Given the description of an element on the screen output the (x, y) to click on. 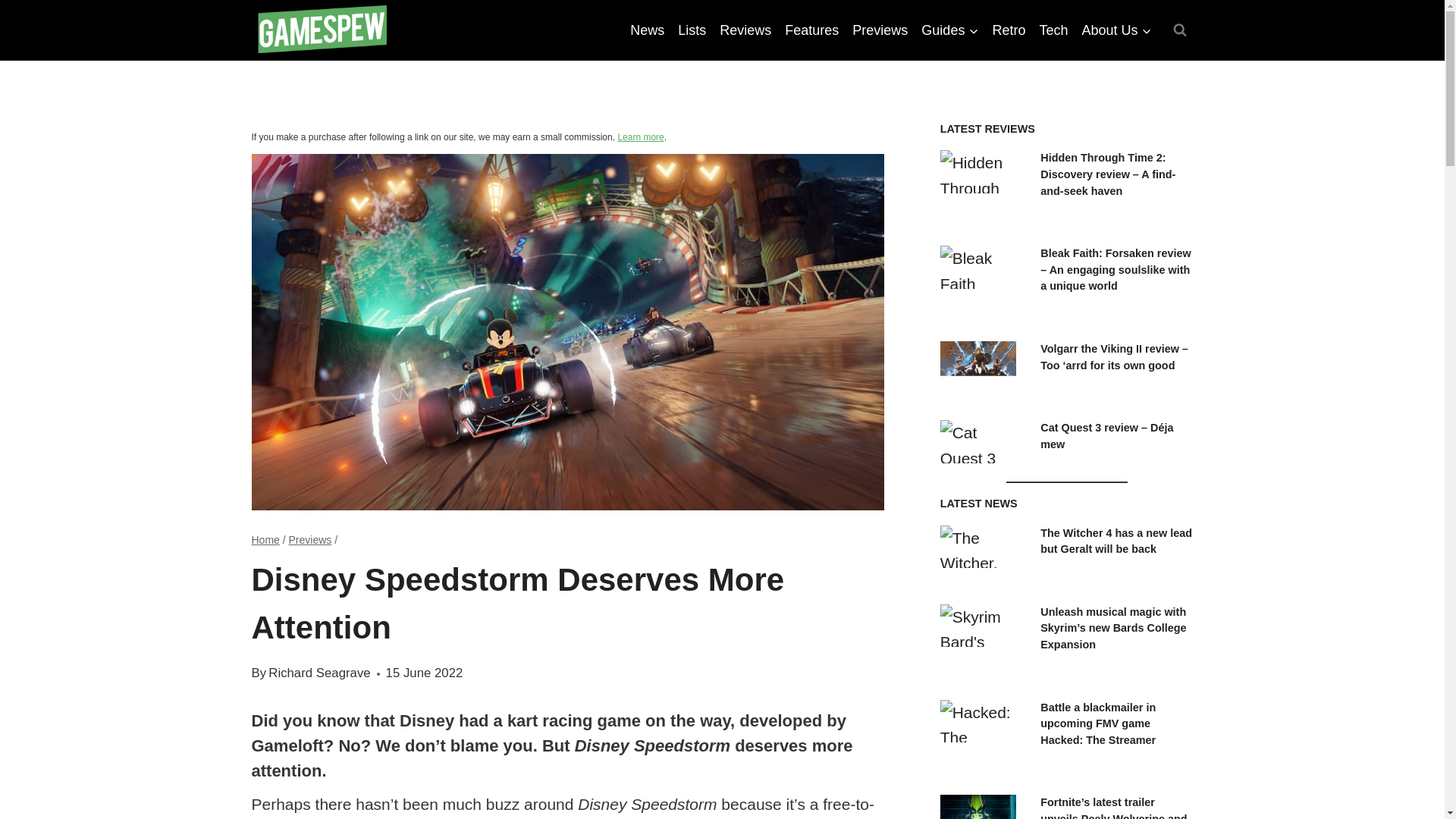
About Us (1115, 30)
Features (811, 30)
Learn more (640, 136)
Tech (1053, 30)
Richard Seagrave (318, 672)
Retro (1008, 30)
Lists (692, 30)
News (647, 30)
Previews (879, 30)
Guides (949, 30)
